Given the description of an element on the screen output the (x, y) to click on. 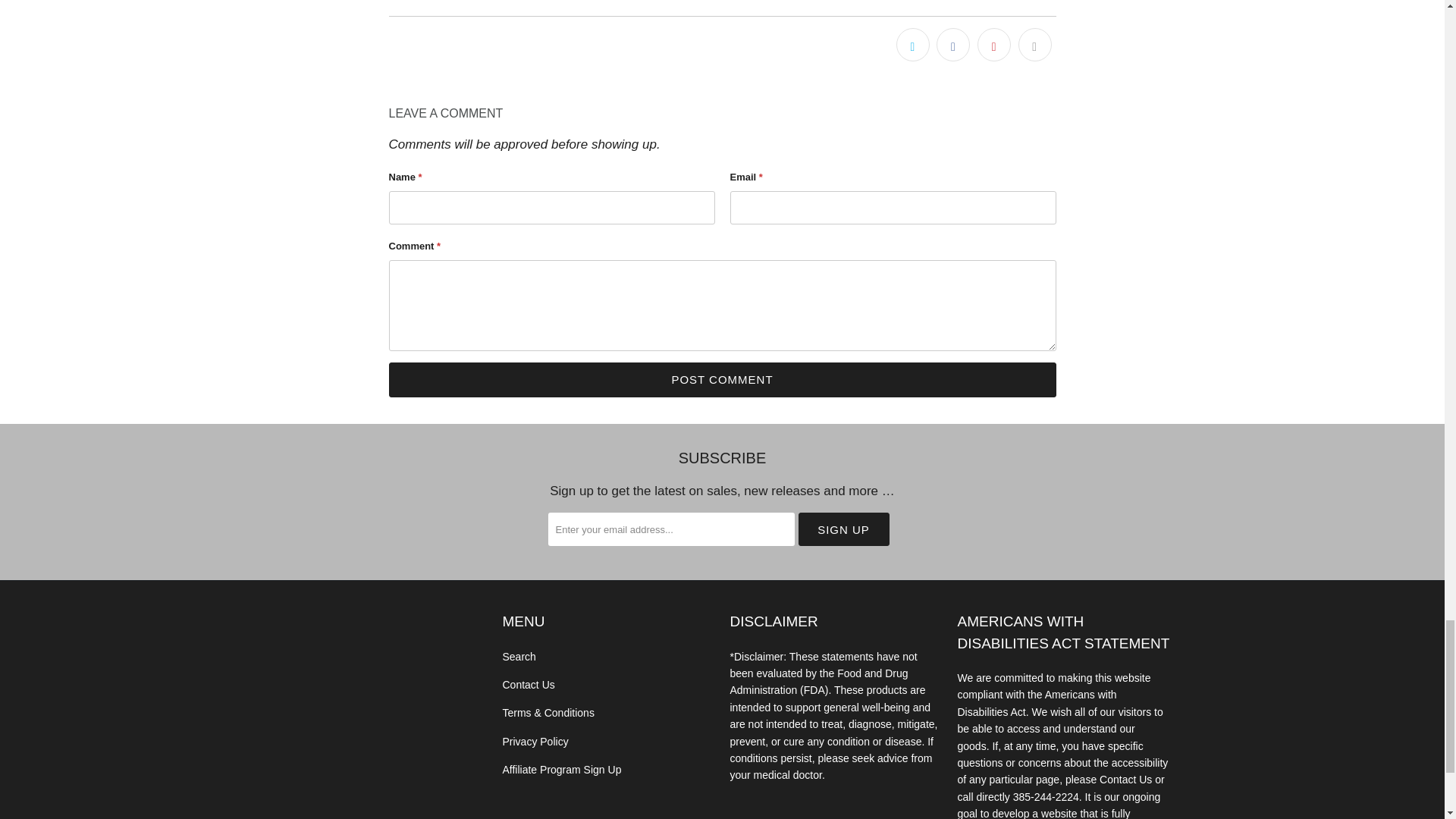
Post comment (721, 379)
Sign Up (842, 529)
